Given the description of an element on the screen output the (x, y) to click on. 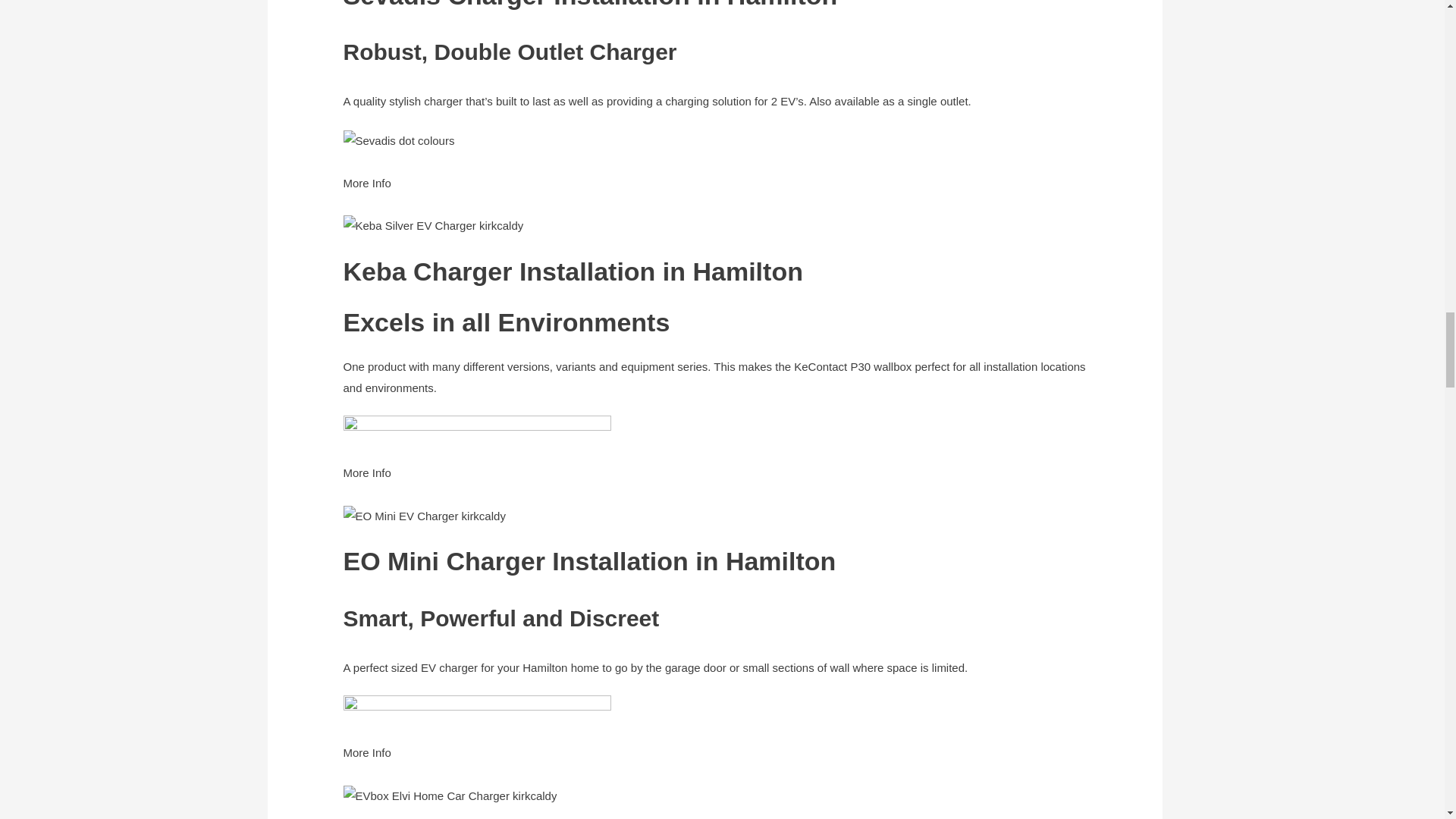
More Info (366, 763)
More Info (366, 192)
More Info (366, 483)
